Given the description of an element on the screen output the (x, y) to click on. 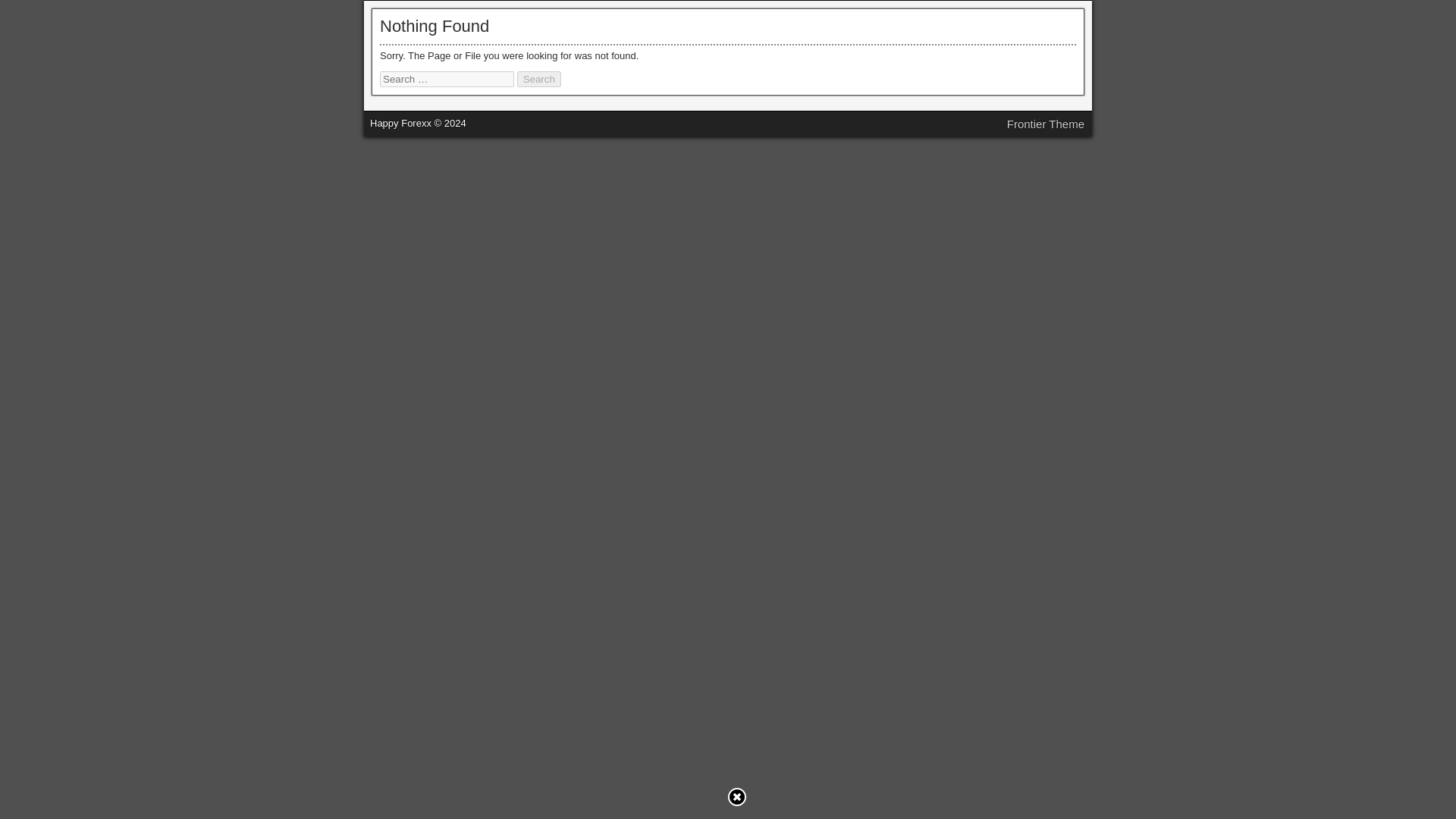
Frontier Theme (1045, 123)
Search (538, 78)
Search (538, 78)
Search (538, 78)
